Given the description of an element on the screen output the (x, y) to click on. 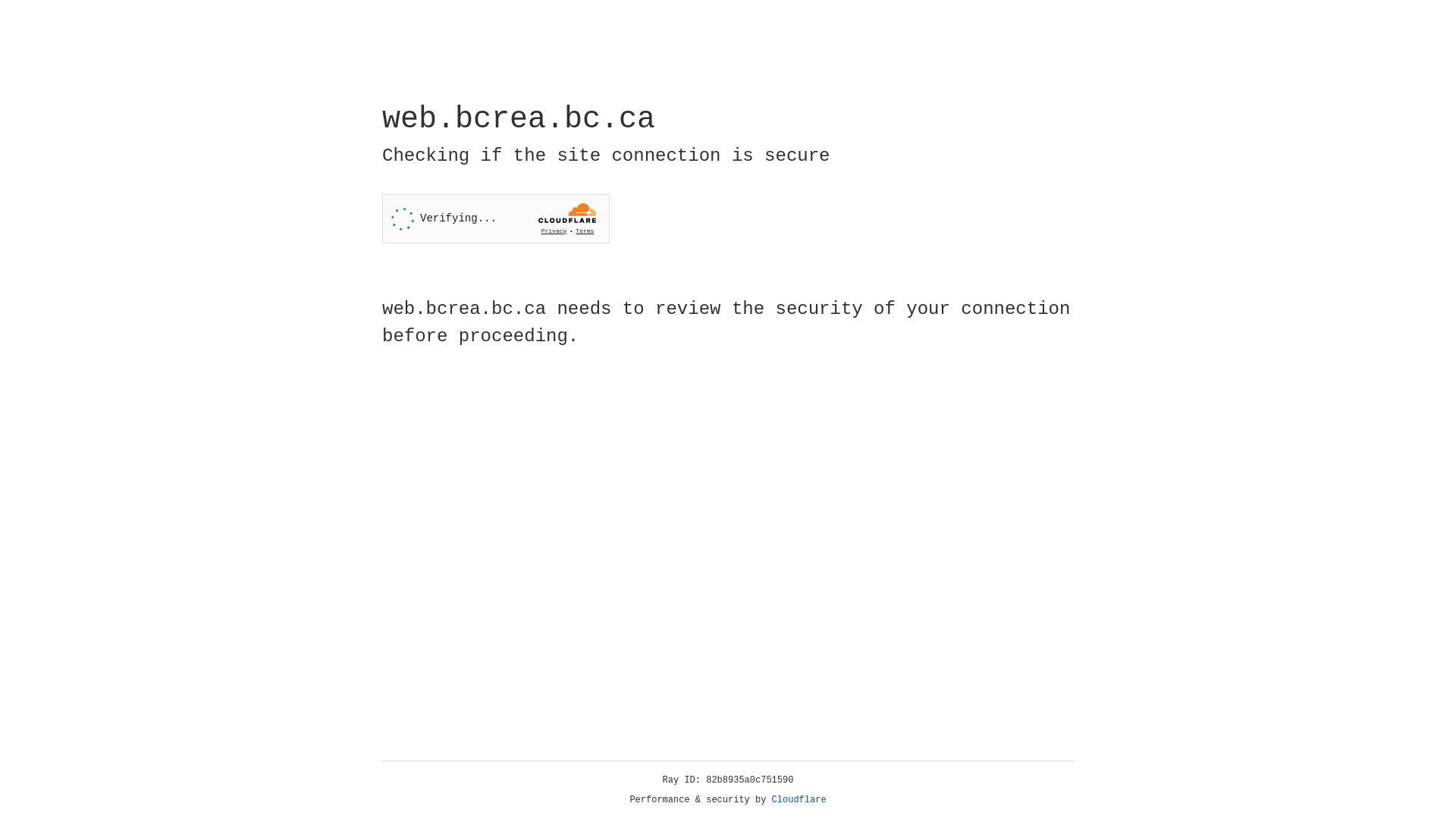
Widget containing a Cloudflare security challenge Element type: hover (495, 218)
Cloudflare Element type: text (798, 799)
